Given the description of an element on the screen output the (x, y) to click on. 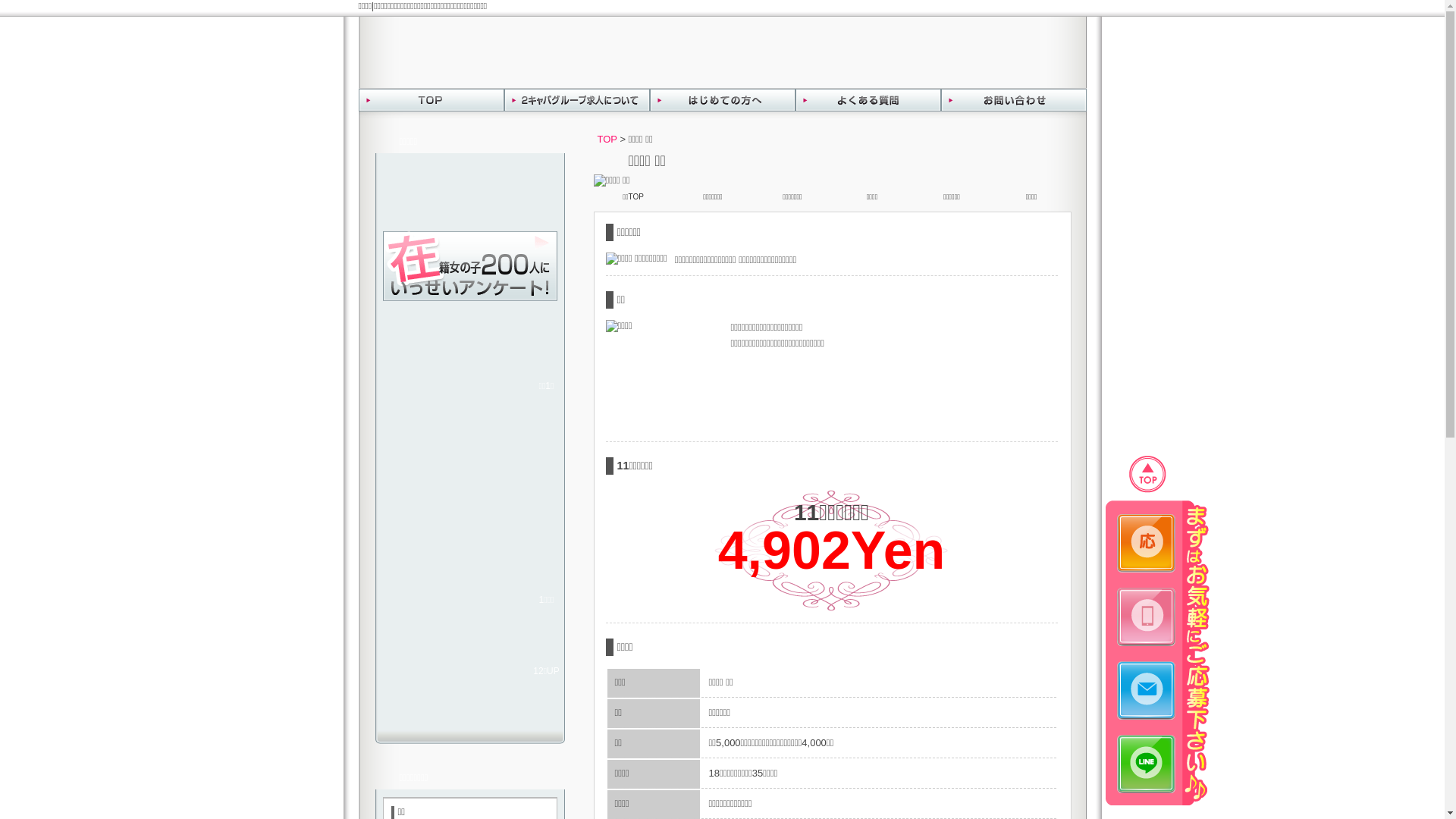
TOP Element type: text (430, 102)
TOP Element type: text (607, 138)
